Given the description of an element on the screen output the (x, y) to click on. 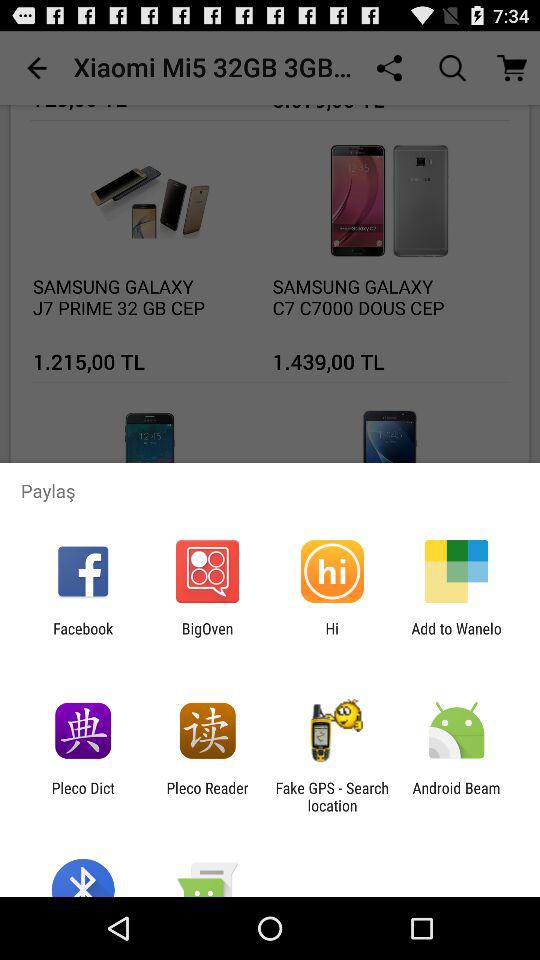
launch the app to the left of the android beam app (332, 796)
